Given the description of an element on the screen output the (x, y) to click on. 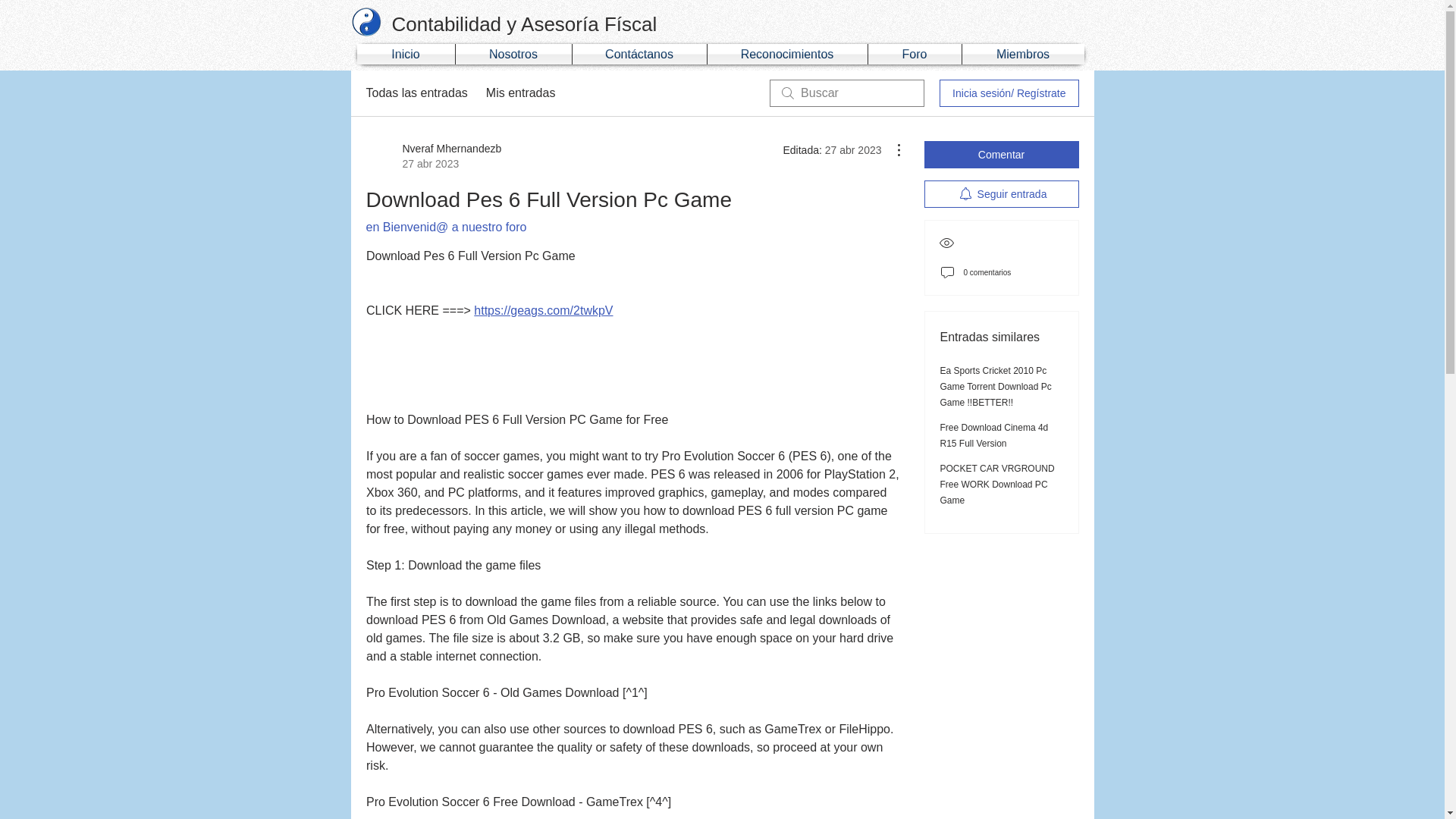
Inicio (405, 54)
Nosotros (512, 54)
Seguir entrada (1000, 194)
Free Download Cinema 4d R15 Full Version (994, 435)
Foro (913, 54)
Comentar (1000, 154)
Reconocimientos (786, 54)
Mis entradas (521, 93)
Miembros (1021, 54)
Todas las entradas (416, 93)
POCKET CAR VRGROUND Free WORK Download PC Game (997, 484)
